Given the description of an element on the screen output the (x, y) to click on. 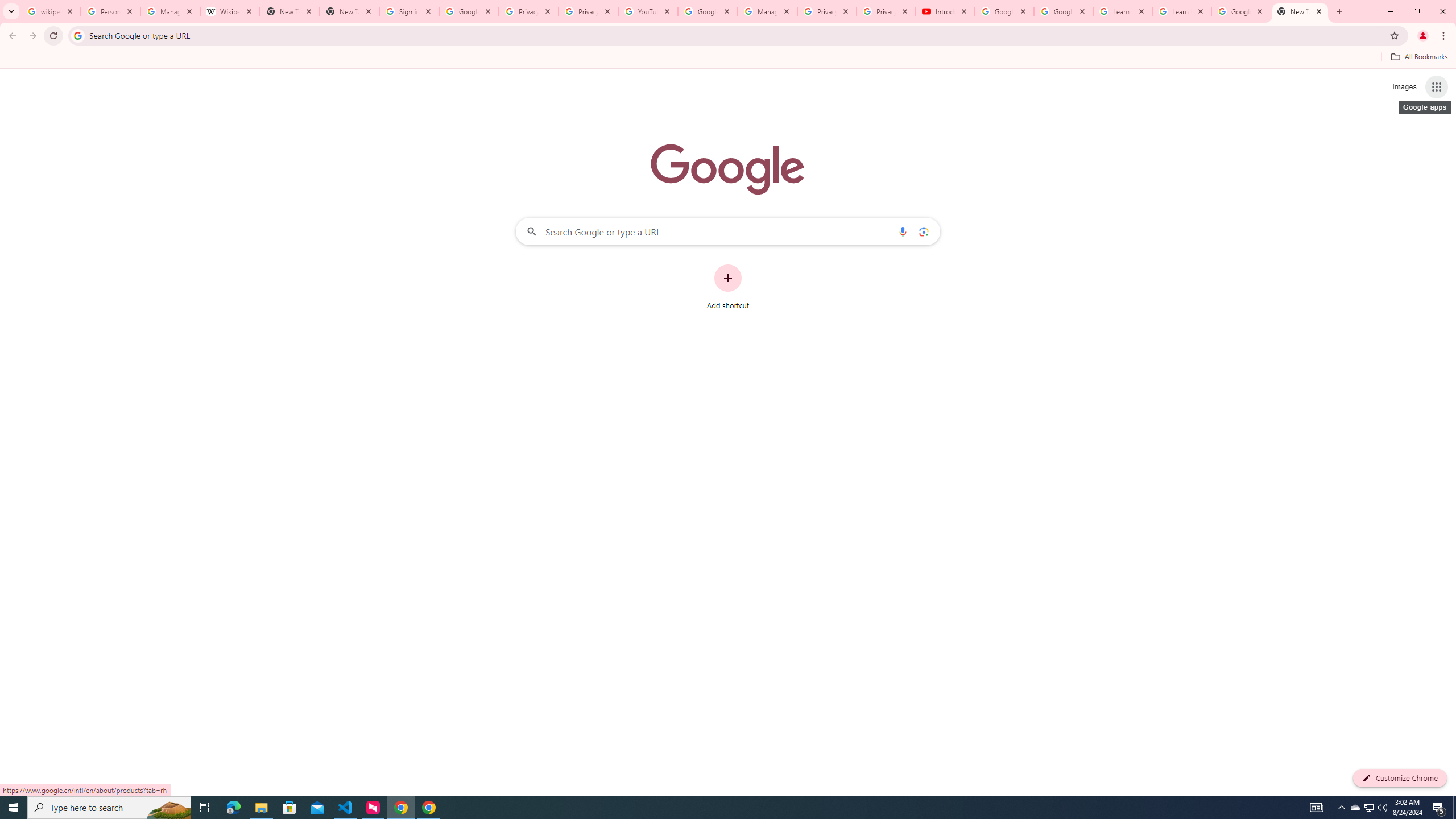
New Tab (1300, 11)
Wikipedia:Edit requests - Wikipedia (229, 11)
Search Google or type a URL (727, 230)
New Tab (349, 11)
Search by image (922, 230)
Google Account Help (1063, 11)
Google Account Help (1004, 11)
YouTube (647, 11)
All Bookmarks (1418, 56)
